Given the description of an element on the screen output the (x, y) to click on. 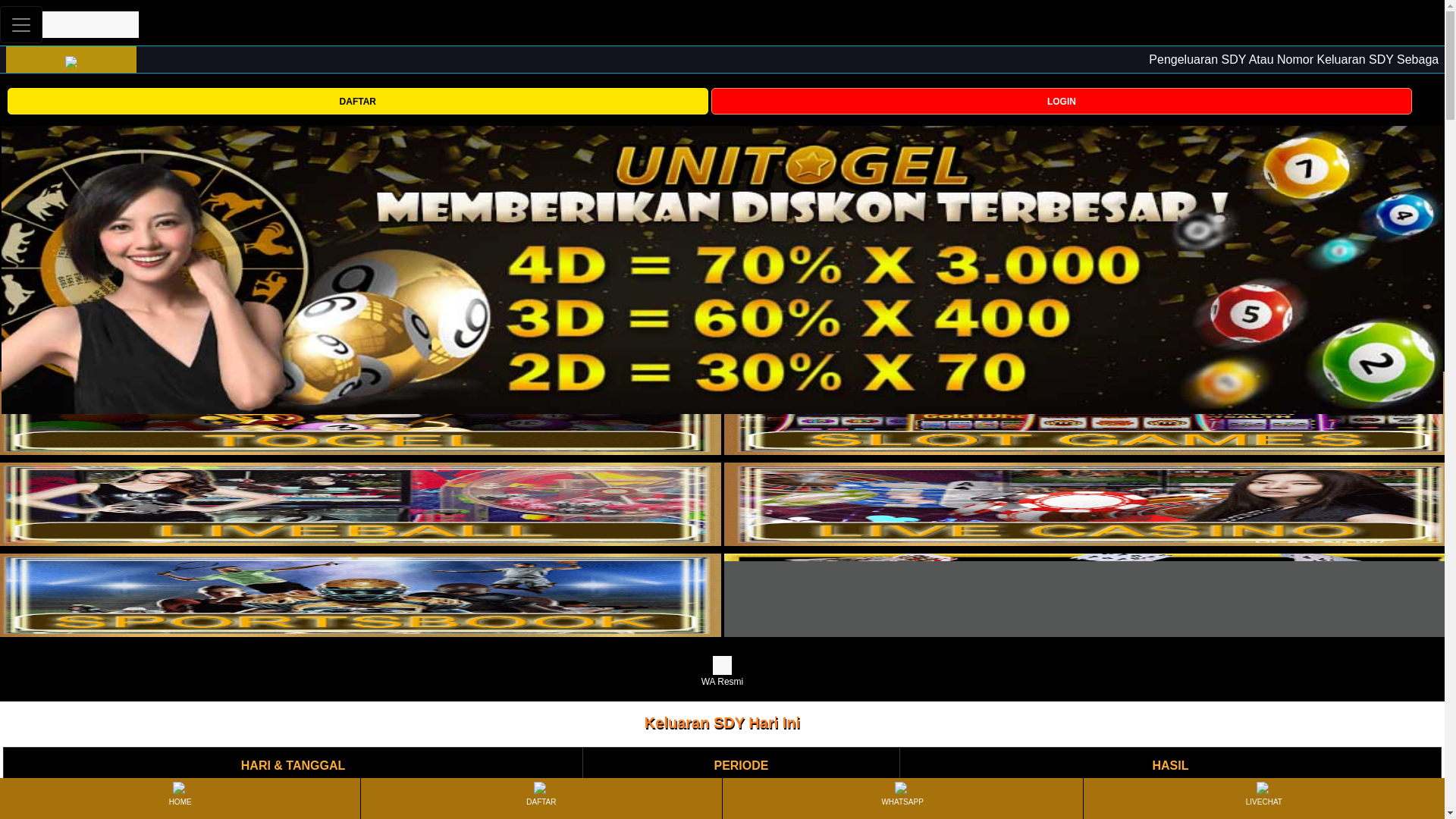
WA Resmi (722, 672)
HOME (179, 798)
DAFTAR (357, 100)
LIVECHAT (1263, 798)
WHATSAPP (901, 798)
LOGIN (1061, 100)
DAFTAR (540, 798)
DAFTAR (357, 100)
LOGIN (1061, 100)
